Given the description of an element on the screen output the (x, y) to click on. 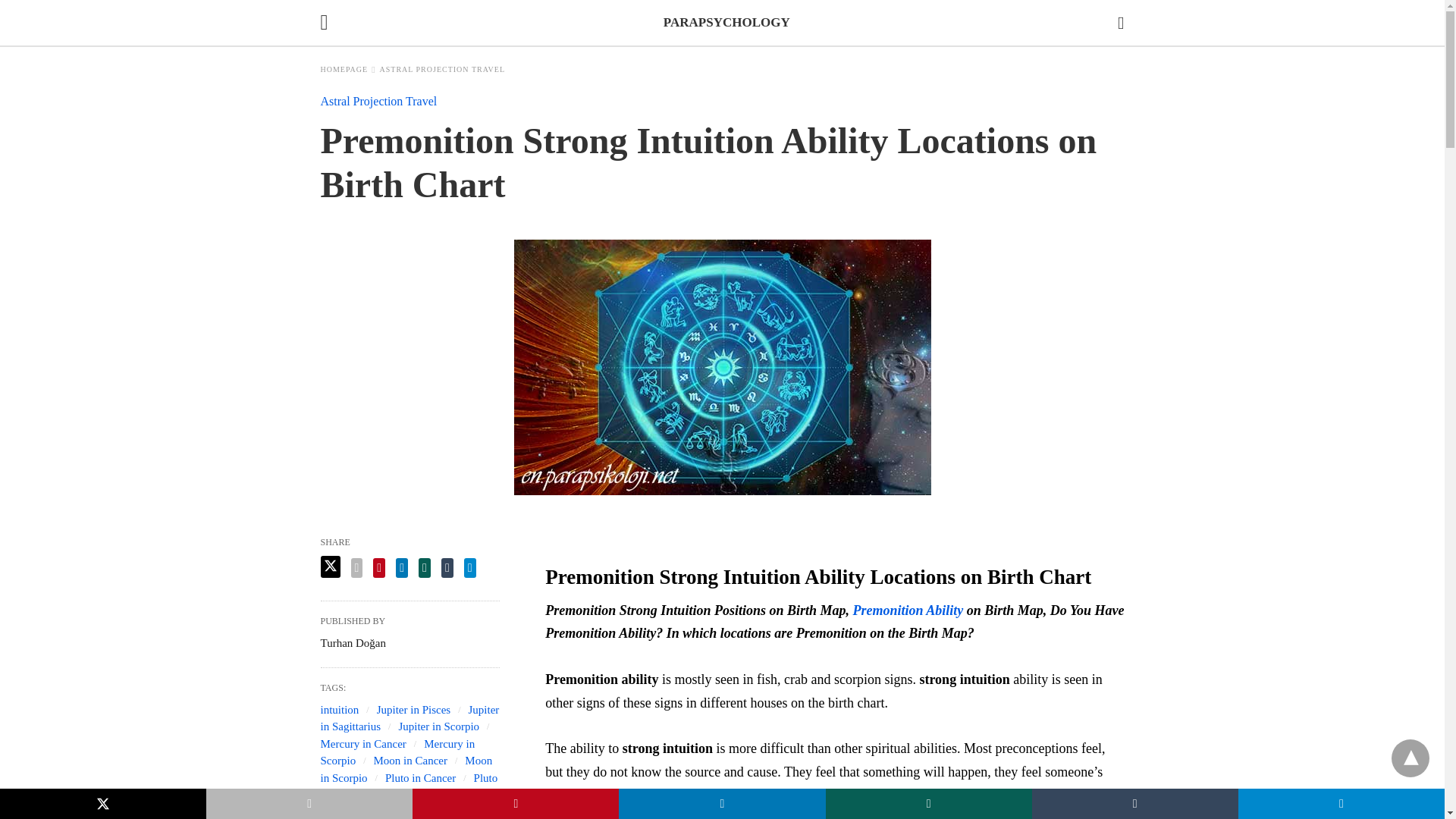
Mercury in Cancer (363, 743)
Astral Projection Travel (442, 69)
Jupiter in Sagittarius (409, 718)
Moon in Cancer (410, 760)
intuition (339, 709)
Astral Projection Travel (378, 101)
Jupiter in Scorpio (438, 726)
intuition (339, 709)
Mercury in Scorpio (397, 751)
Jupiter in Pisces (414, 709)
Mercury in Scorpio (397, 751)
Astral Projection Travel (378, 101)
Pluto in Cancer (420, 777)
Pluto in Pisces (408, 786)
HOMEPAGE (347, 69)
